Given the description of an element on the screen output the (x, y) to click on. 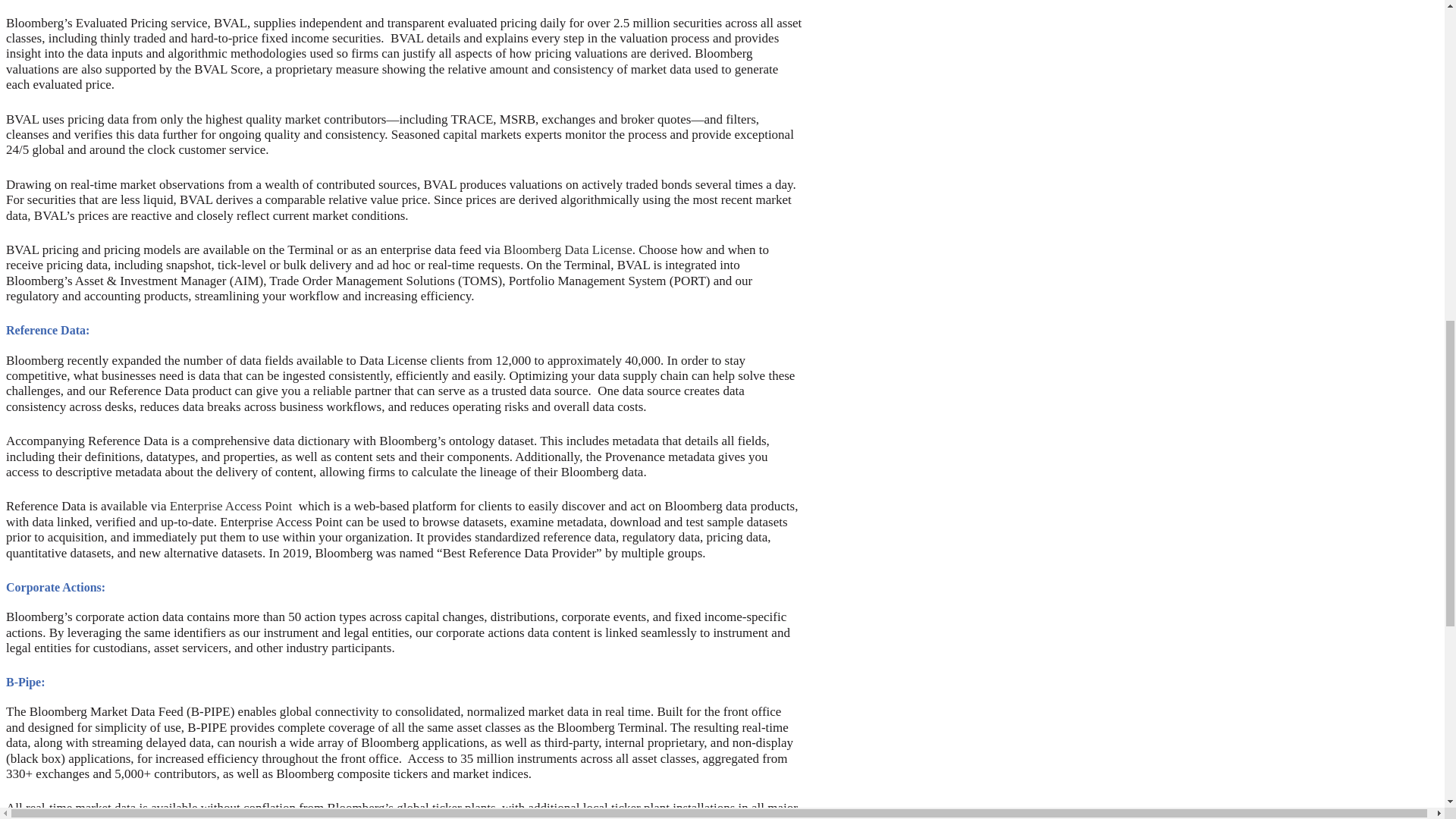
Enterprise Access Point (231, 505)
Bloomberg Data License (567, 249)
